Given the description of an element on the screen output the (x, y) to click on. 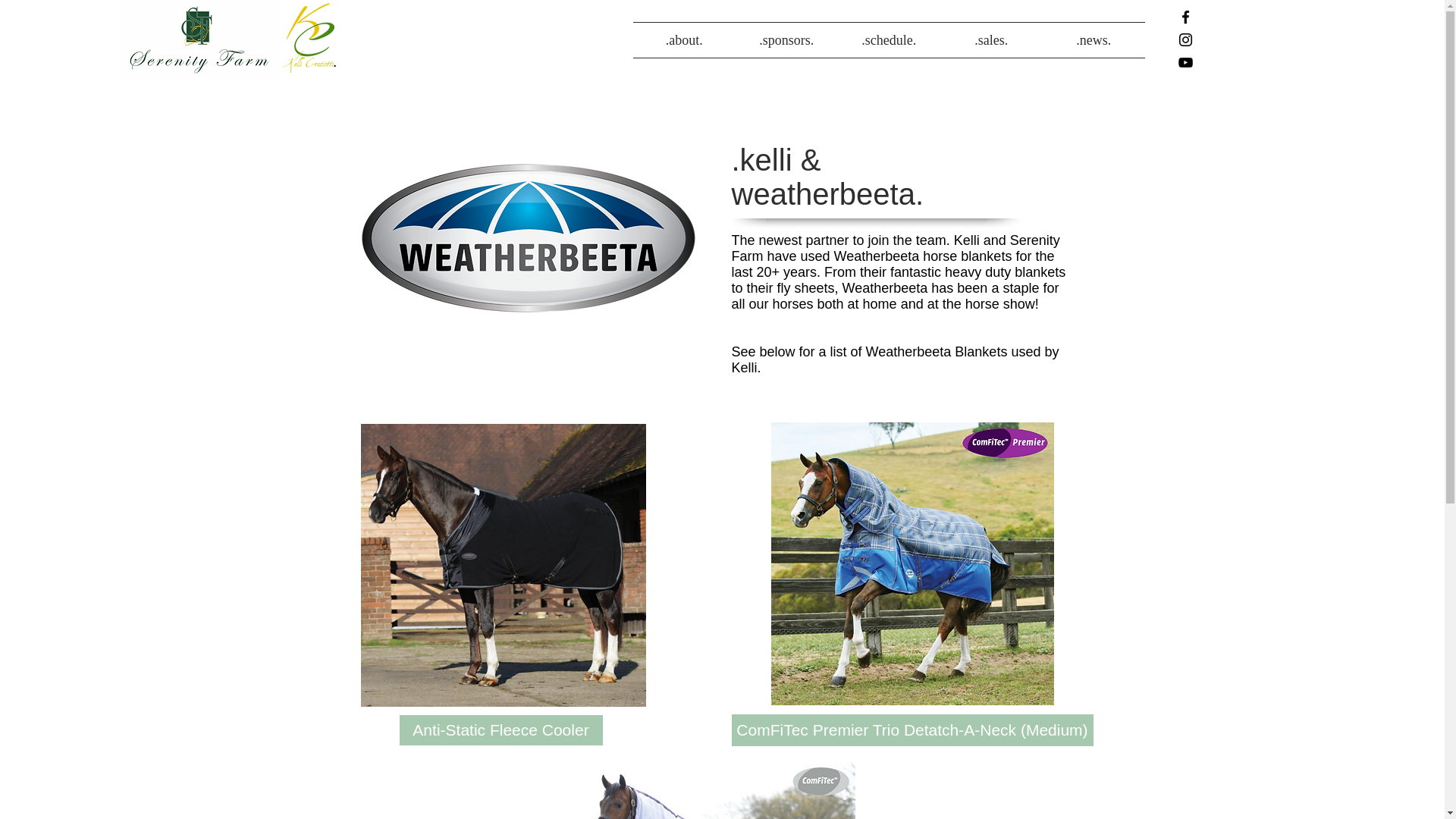
.news. (1093, 39)
.schedule. (889, 39)
.sales. (991, 39)
Anti-Static Fleece Cooler (500, 729)
.about. (684, 39)
.sponsors. (786, 39)
